Given the description of an element on the screen output the (x, y) to click on. 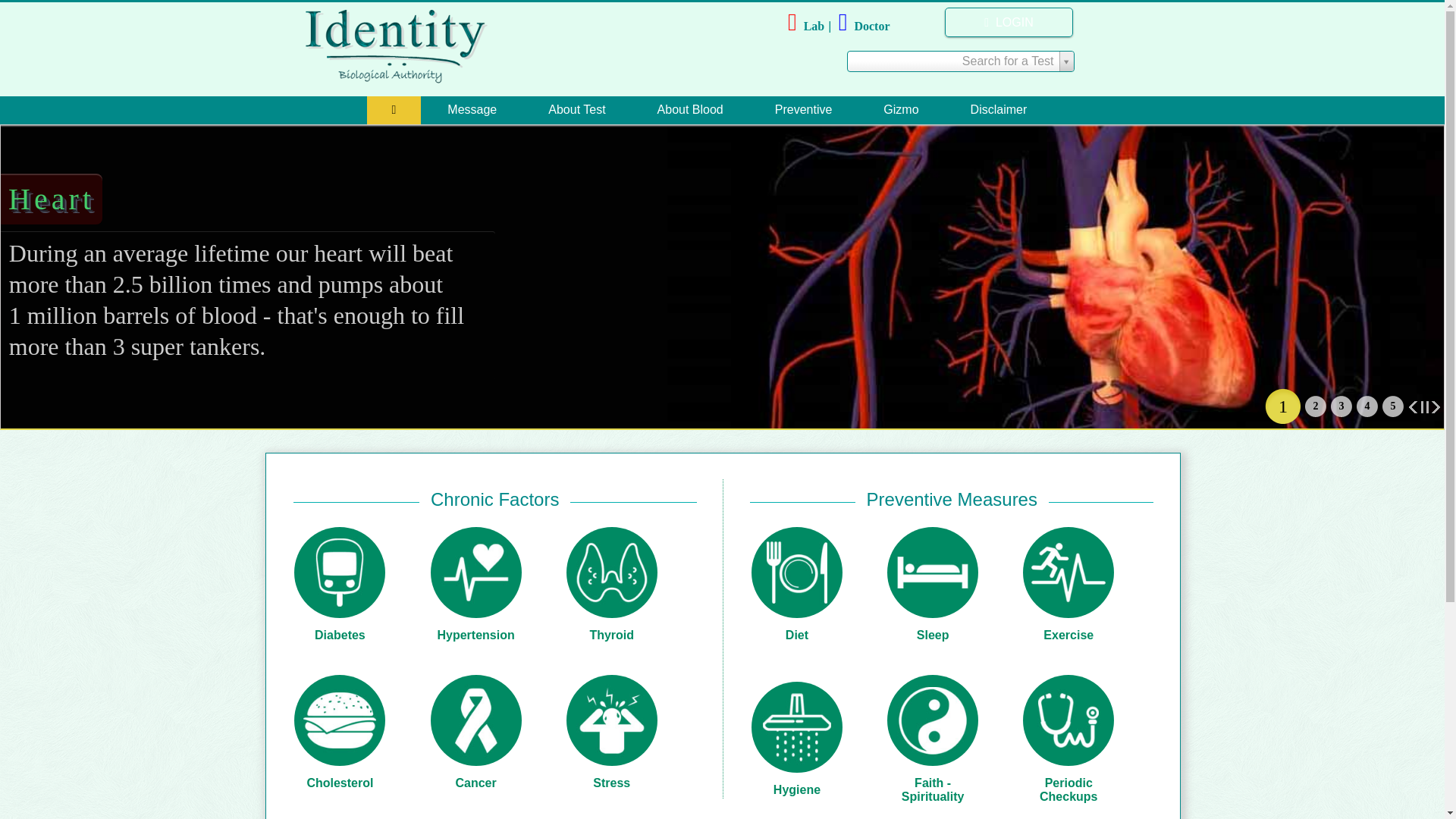
Blood (1315, 406)
  Lab (810, 25)
Preventive (803, 110)
2 (1315, 406)
Disclaimer (998, 110)
About Blood (689, 110)
Brain (1392, 406)
  LOGIN (1007, 21)
1 (1283, 406)
